Given the description of an element on the screen output the (x, y) to click on. 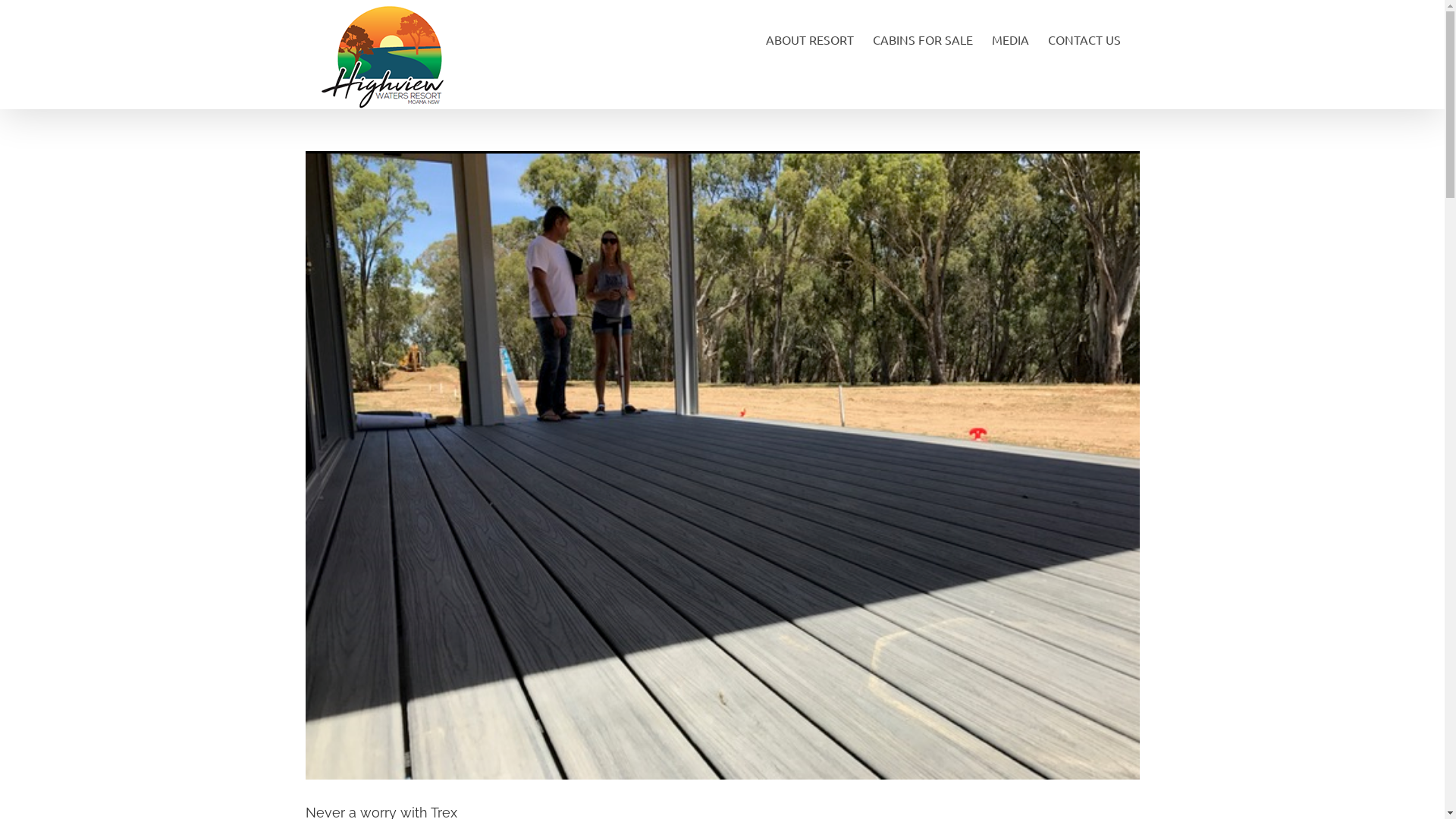
CABINS FOR SALE Element type: text (922, 38)
CONTACT US Element type: text (1084, 38)
ABOUT RESORT Element type: text (809, 38)
MEDIA Element type: text (1010, 38)
